Given the description of an element on the screen output the (x, y) to click on. 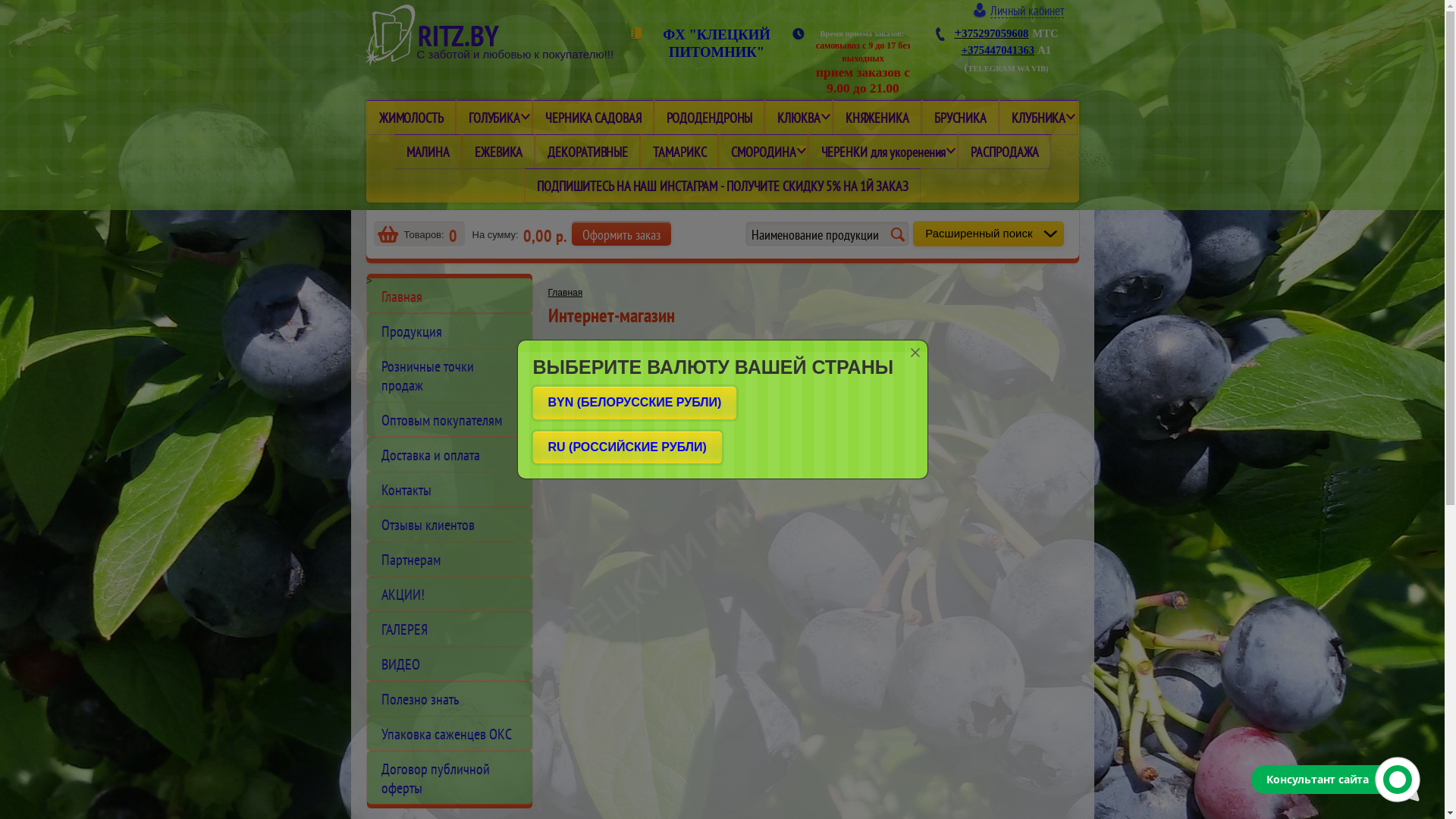
+375447041363 Element type: text (997, 49)
+375297059608 Element type: text (990, 31)
